Given the description of an element on the screen output the (x, y) to click on. 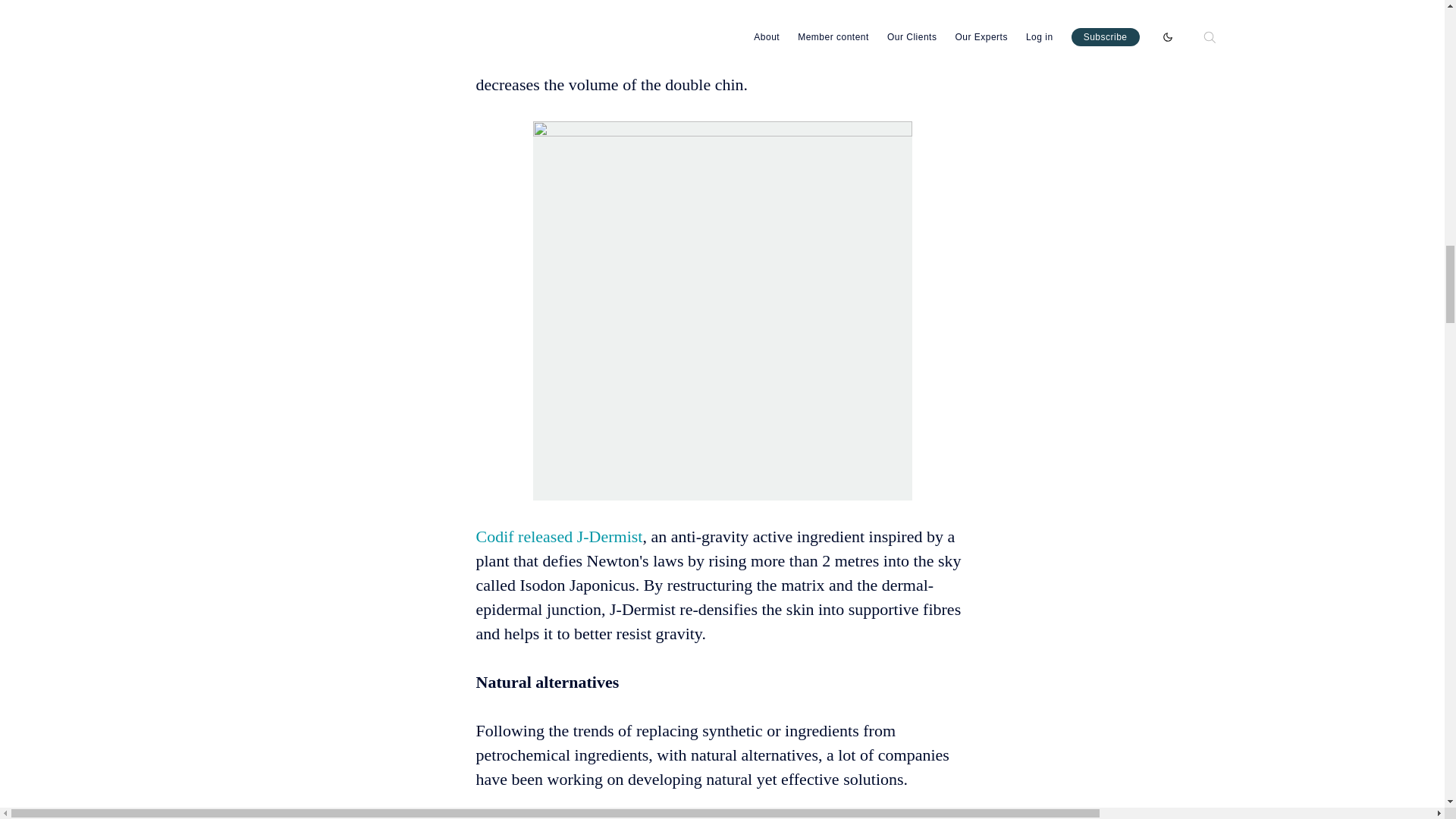
Codif released J-Dermist (559, 535)
